Given the description of an element on the screen output the (x, y) to click on. 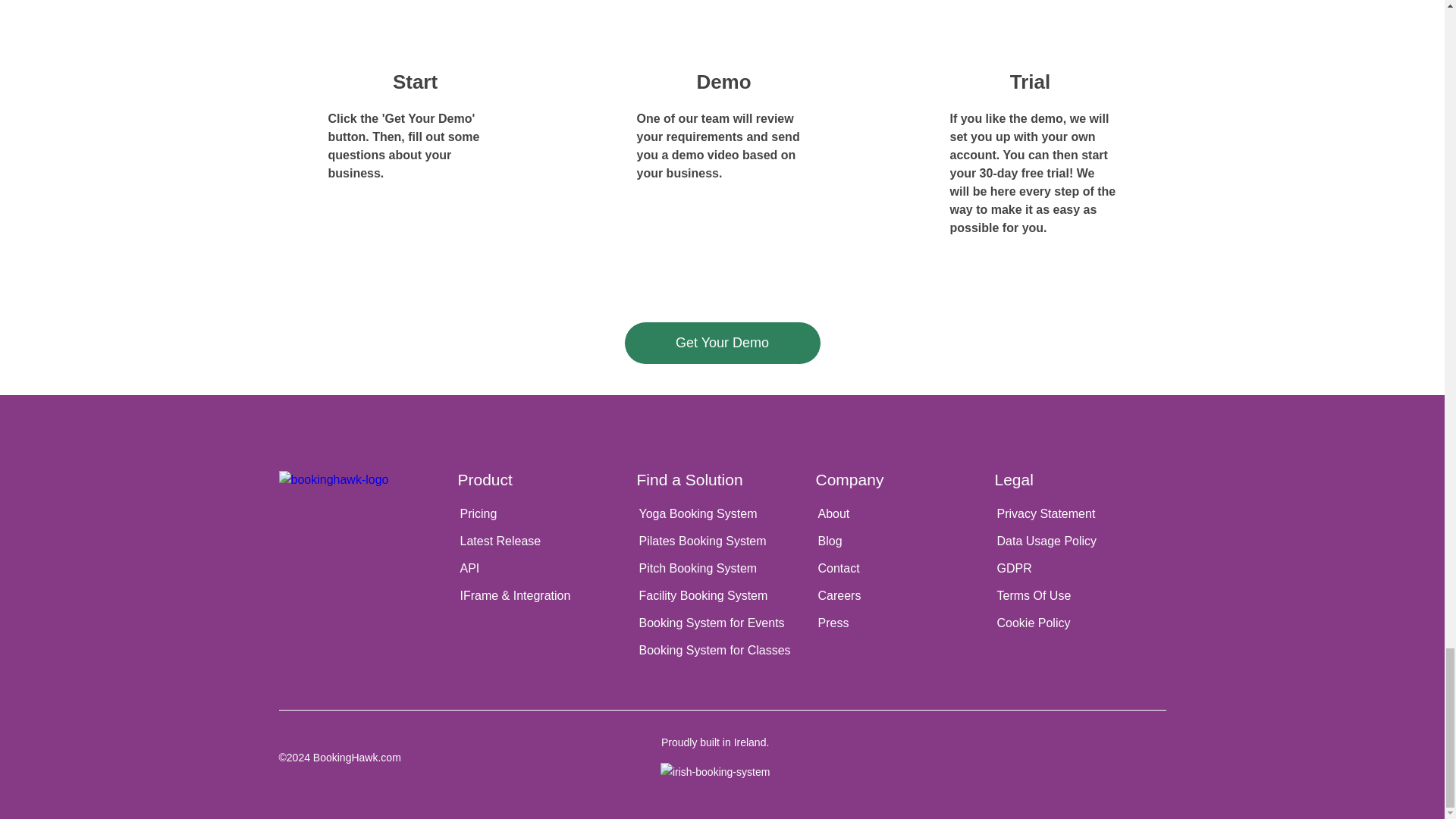
Cookie Policy (1080, 623)
Pitch Booking System (722, 568)
Booking System for Classes (722, 650)
Terms Of Use (1080, 595)
Data Usage Policy (1080, 541)
Press (901, 623)
Pricing (543, 513)
Get Your Demo (722, 342)
Latest Release (543, 541)
Booking System for Events (722, 623)
Contact (901, 568)
API (543, 568)
Blog (901, 541)
Pilates Booking System (722, 541)
Yoga Booking System (722, 513)
